Given the description of an element on the screen output the (x, y) to click on. 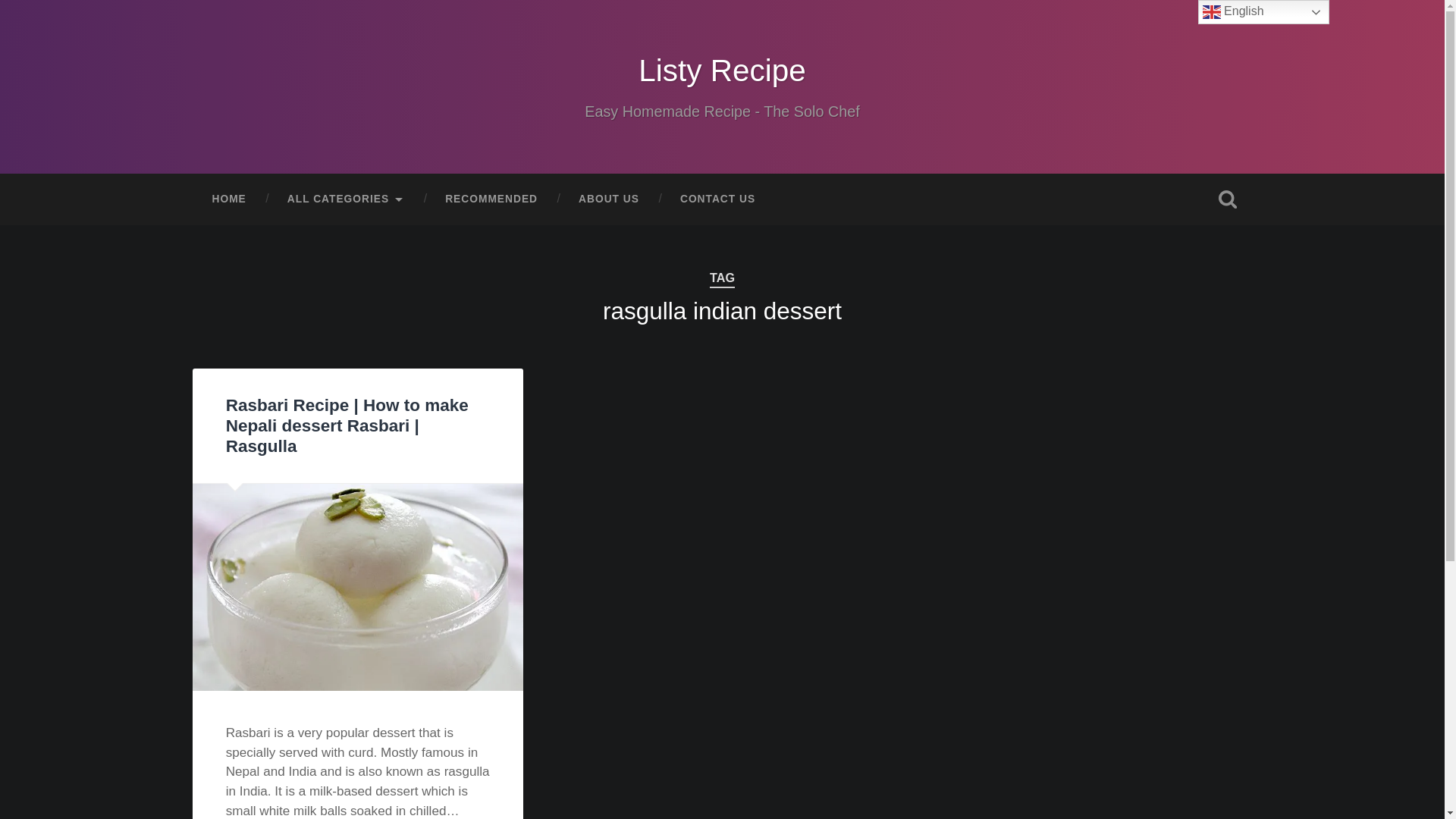
Listy Recipe (722, 70)
RECOMMENDED (491, 199)
CONTACT US (717, 199)
HOME (228, 199)
ABOUT US (608, 199)
ALL CATEGORIES (345, 199)
